Given the description of an element on the screen output the (x, y) to click on. 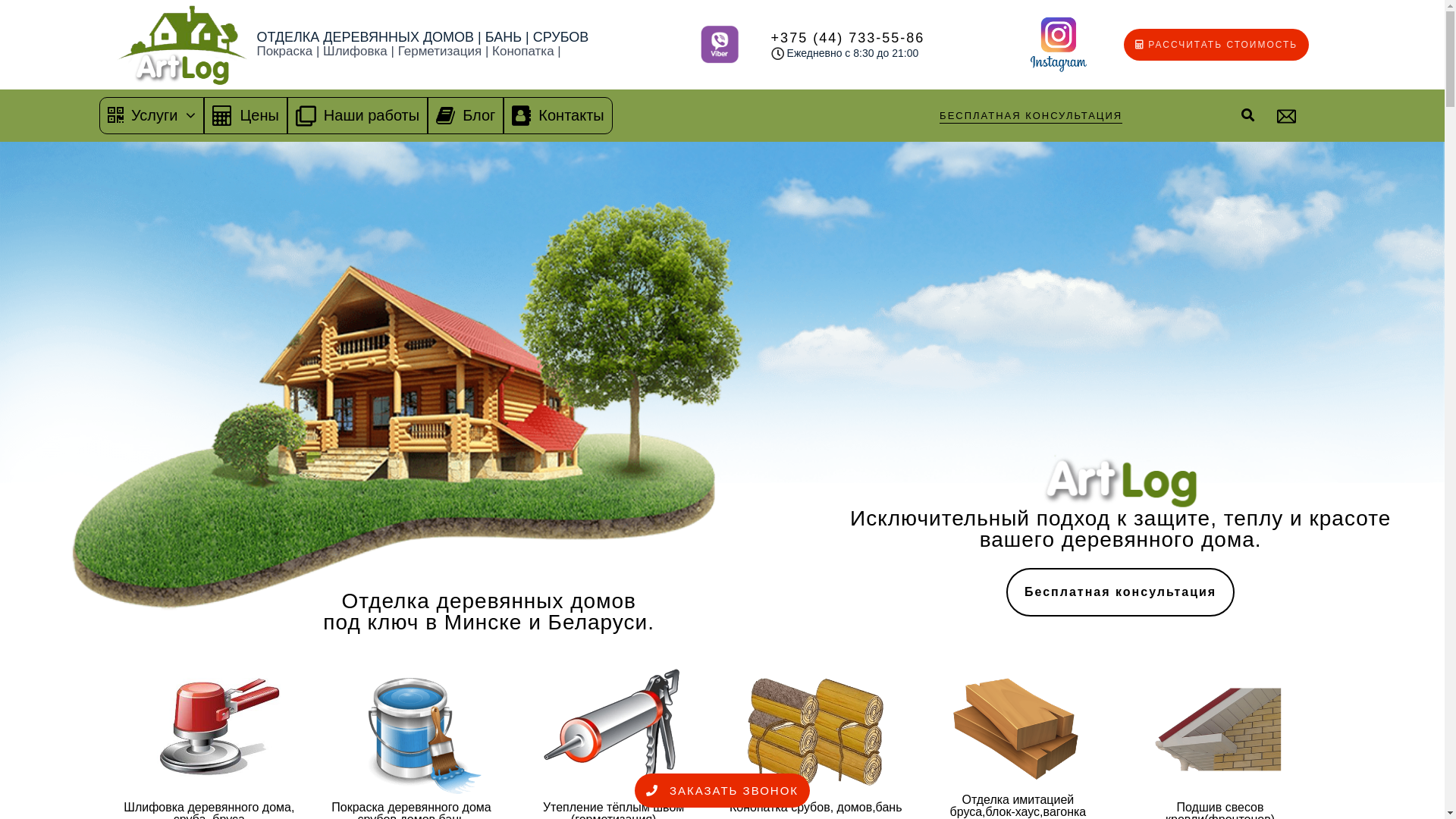
+375 (44) 733-55-86 Element type: text (848, 38)
